Given the description of an element on the screen output the (x, y) to click on. 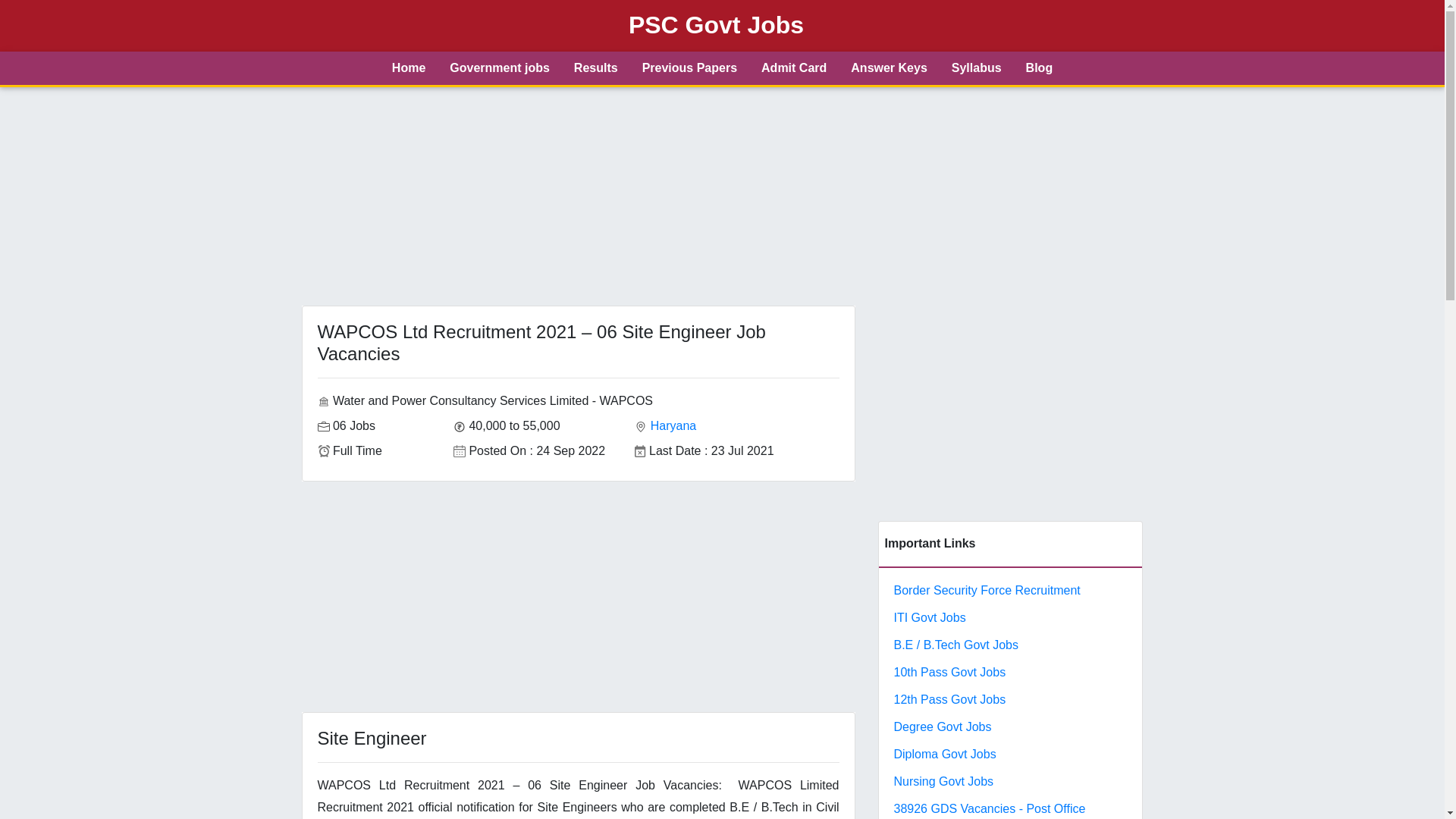
Previous Papers (689, 68)
Home (409, 68)
Admit Card (793, 68)
12th Pass Govt Jobs (949, 698)
PSC Govt Jobs (715, 25)
Diploma Govt Jobs (944, 753)
Degree Govt Jobs (942, 726)
Advertisement (578, 599)
Advertisement (1009, 411)
Results (596, 68)
38926 GDS Vacancies - Post Office Recruitment (988, 810)
10th Pass Govt Jobs (949, 671)
Answer Keys (888, 68)
ITI Govt Jobs (929, 617)
